Given the description of an element on the screen output the (x, y) to click on. 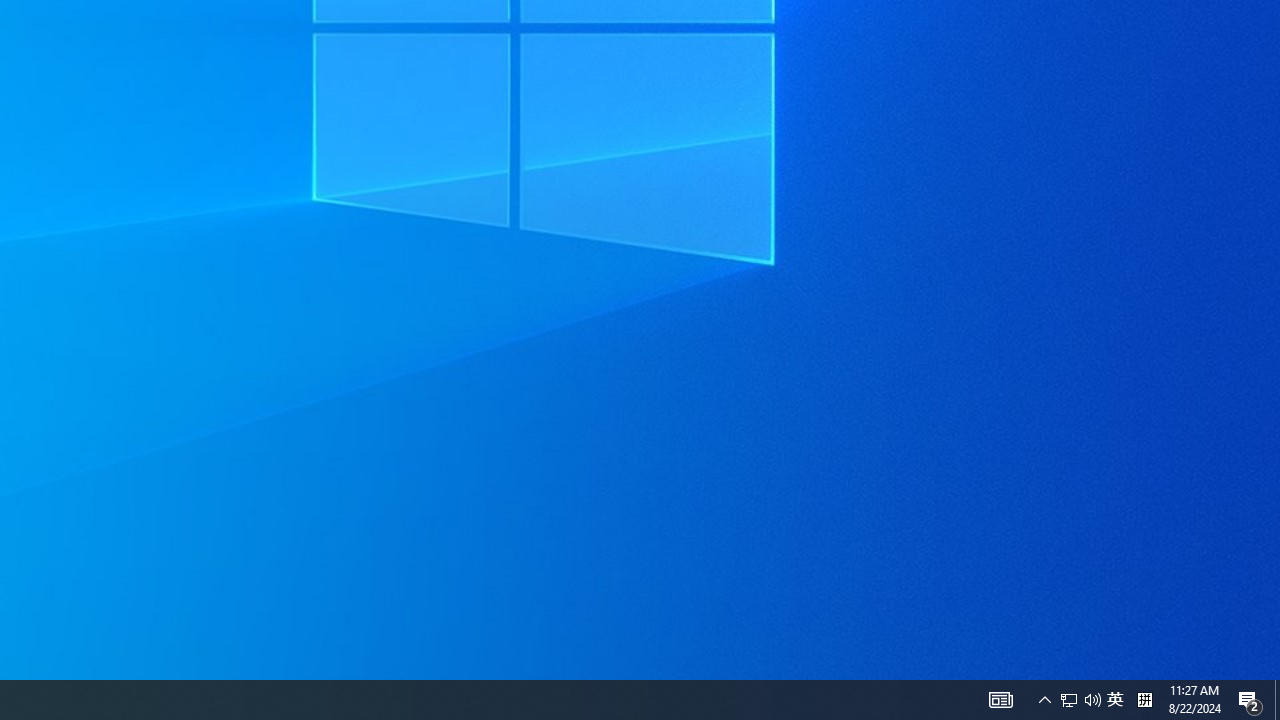
User Promoted Notification Area (1080, 699)
Q2790: 100% (1069, 699)
Notification Chevron (1092, 699)
AutomationID: 4105 (1044, 699)
Action Center, 2 new notifications (1000, 699)
Tray Input Indicator - Chinese (Simplified, China) (1250, 699)
Show desktop (1144, 699)
